Given the description of an element on the screen output the (x, y) to click on. 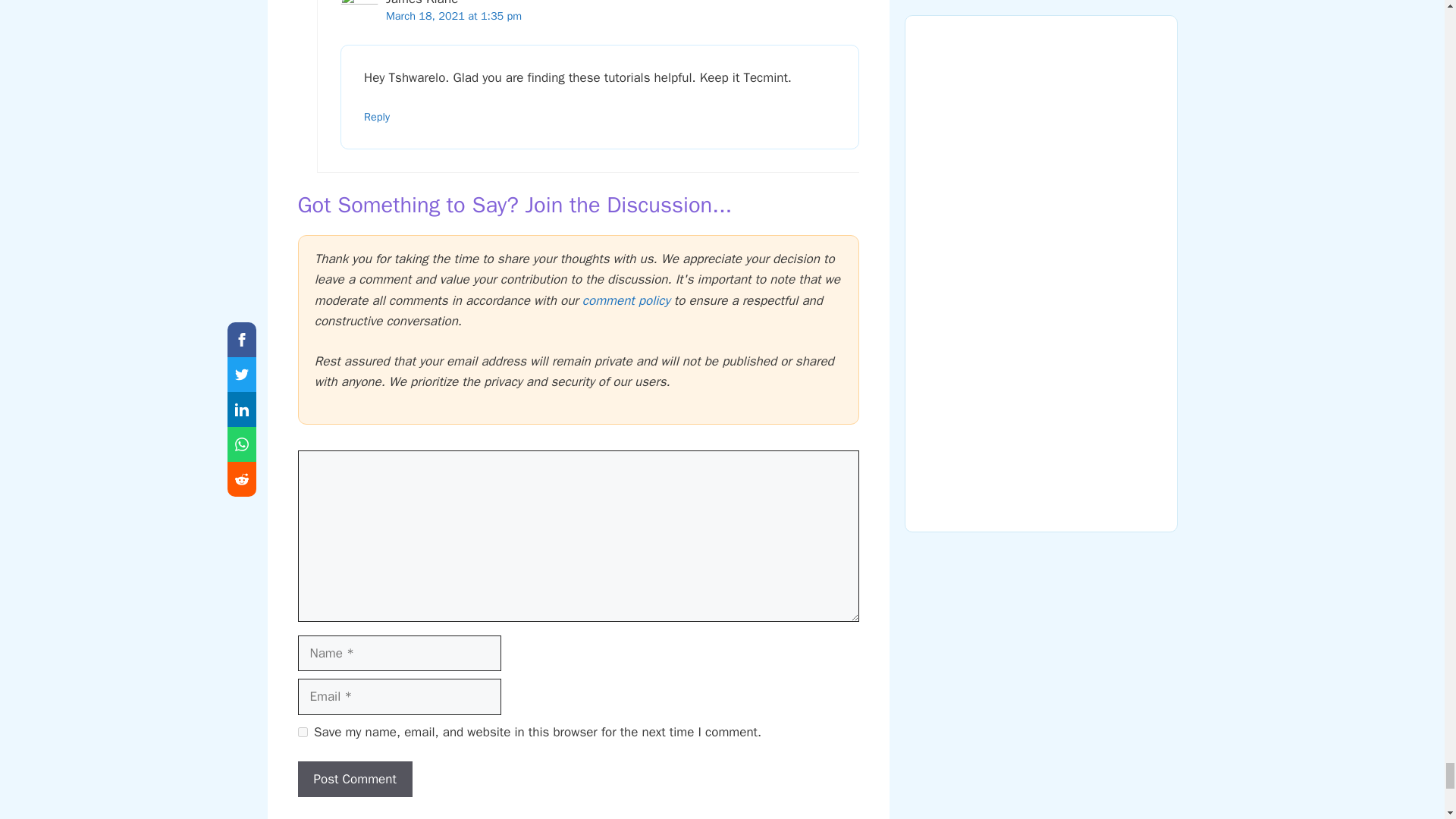
yes (302, 732)
Post Comment (354, 779)
